Given the description of an element on the screen output the (x, y) to click on. 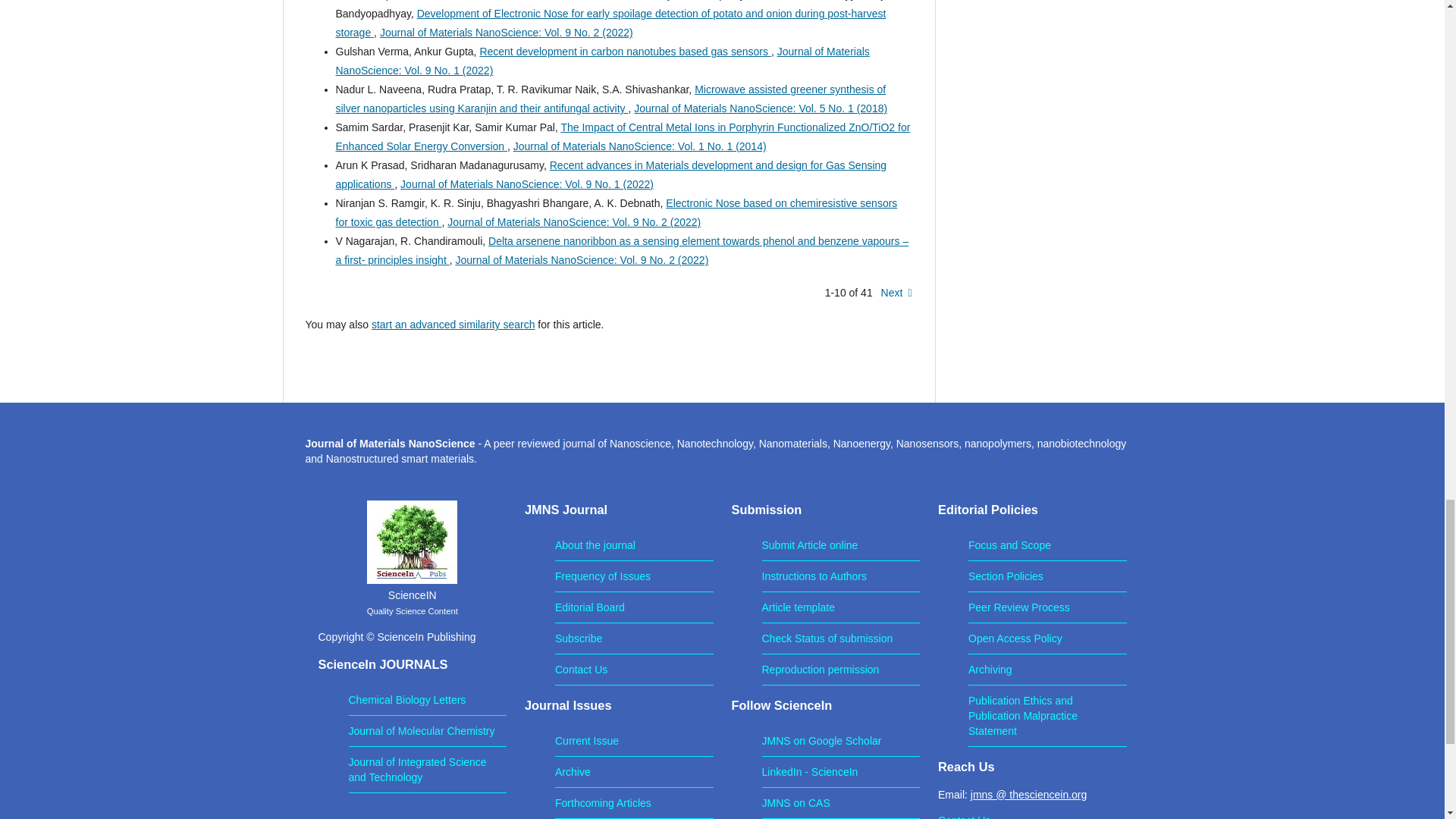
Visit Journal of Integrated Science site (417, 768)
Visit Journal of Molecular Chemistry site (422, 730)
Visit Chemical Biology Letters site (407, 699)
